Given the description of an element on the screen output the (x, y) to click on. 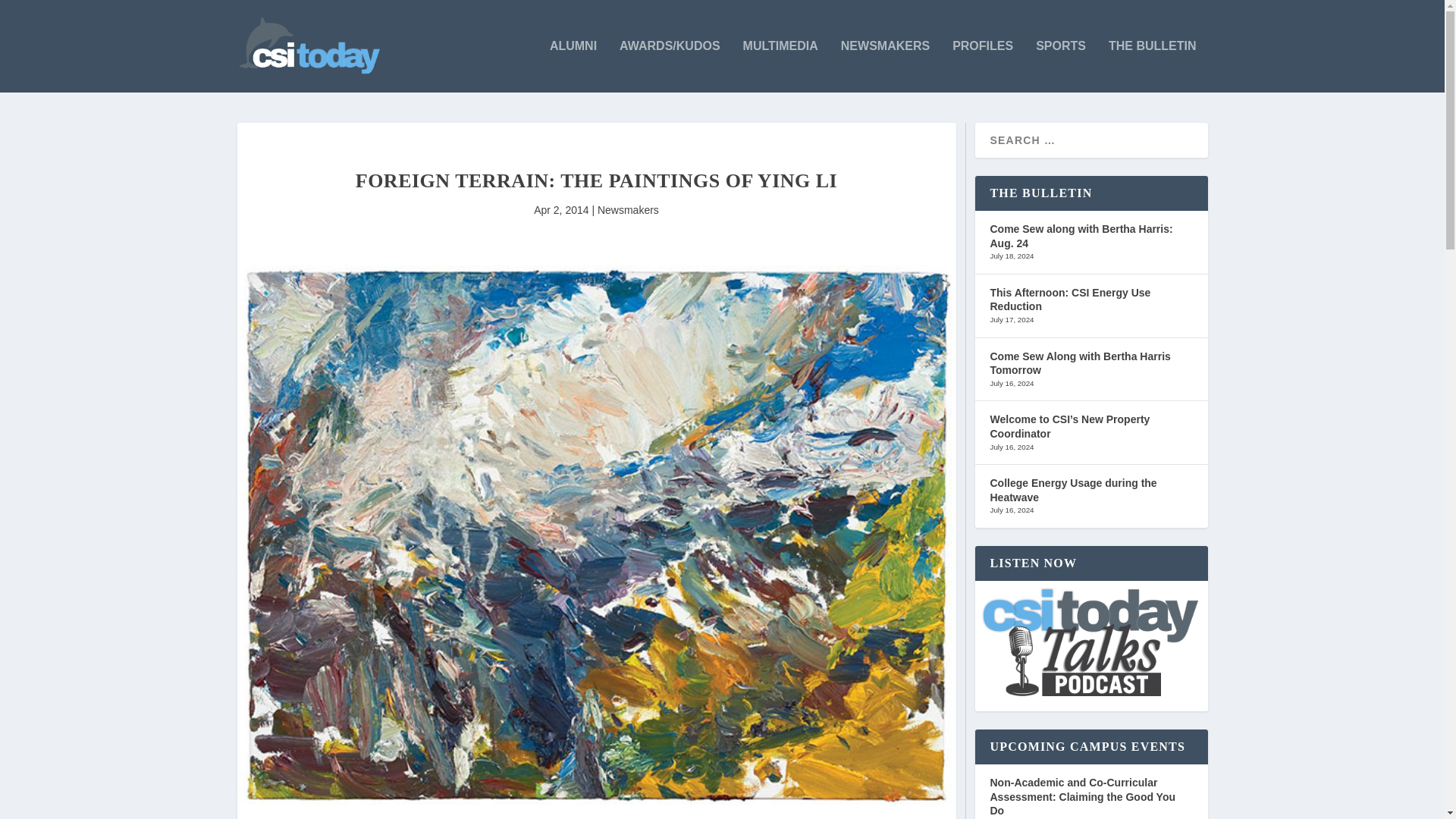
MULTIMEDIA (780, 66)
ALUMNI (573, 66)
NEWSMAKERS (885, 66)
SPORTS (1060, 66)
THE BULLETIN (1152, 66)
PROFILES (982, 66)
